Given the description of an element on the screen output the (x, y) to click on. 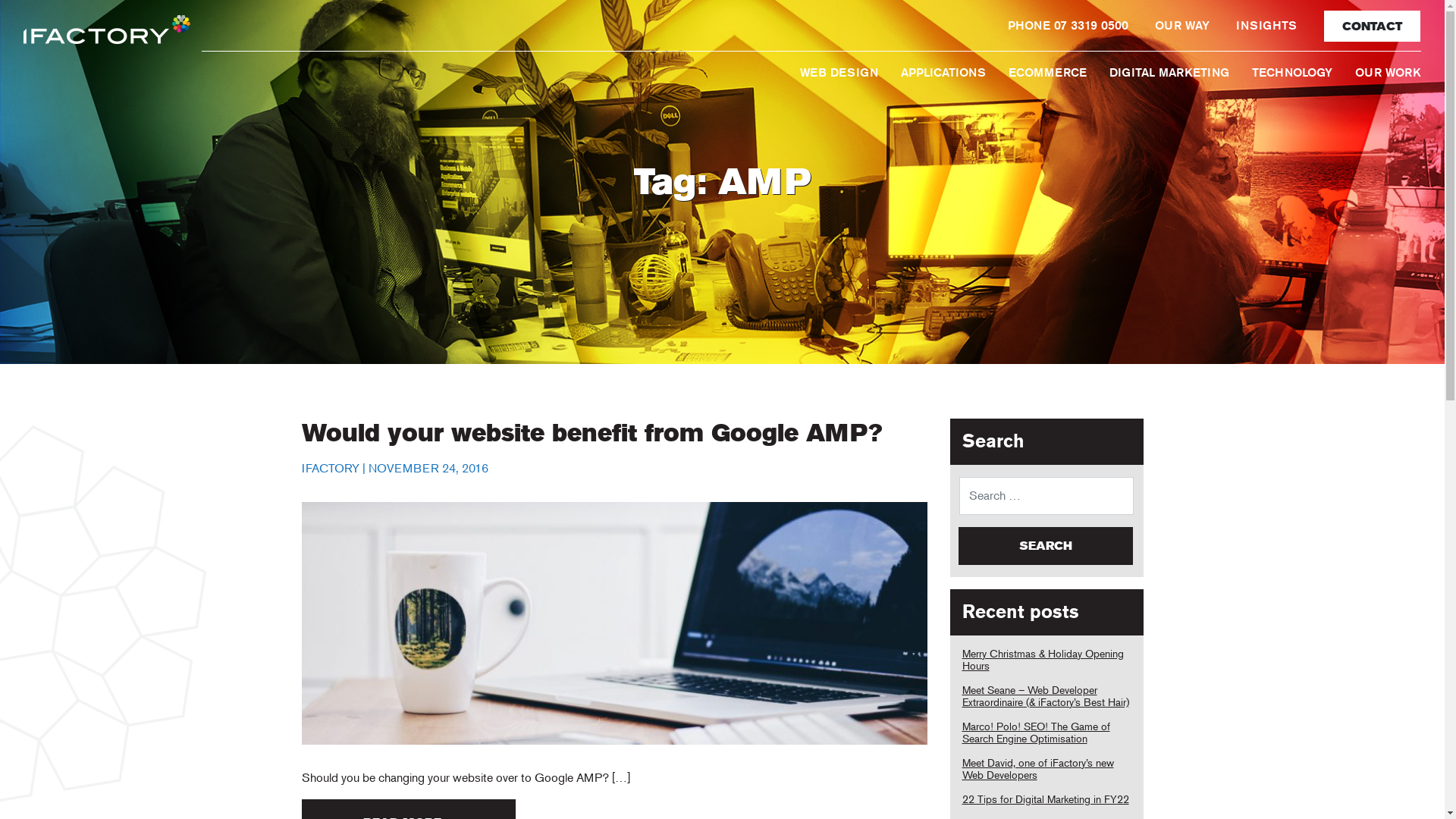
DIGITAL MARKETING Element type: text (1169, 72)
Search Element type: text (1045, 545)
Marco! Polo! SEO! The Game of Search Engine Optimisation Element type: text (1035, 731)
Skip to content Element type: text (1443, 0)
OUR WORK Element type: text (1388, 72)
CONTACT Element type: text (1372, 25)
Merry Christmas & Holiday Opening Hours Element type: text (1042, 658)
Would your website benefit from Google AMP? Element type: text (591, 432)
INSIGHTS Element type: text (1266, 25)
TECHNOLOGY Element type: text (1292, 72)
APPLICATIONS Element type: text (942, 72)
OUR WAY Element type: text (1181, 25)
ECOMMERCE Element type: text (1047, 72)
WEB DESIGN Element type: text (839, 72)
22 Tips for Digital Marketing in FY22 Element type: text (1044, 798)
PHONE 07 3319 0500 Element type: text (1067, 25)
